Given the description of an element on the screen output the (x, y) to click on. 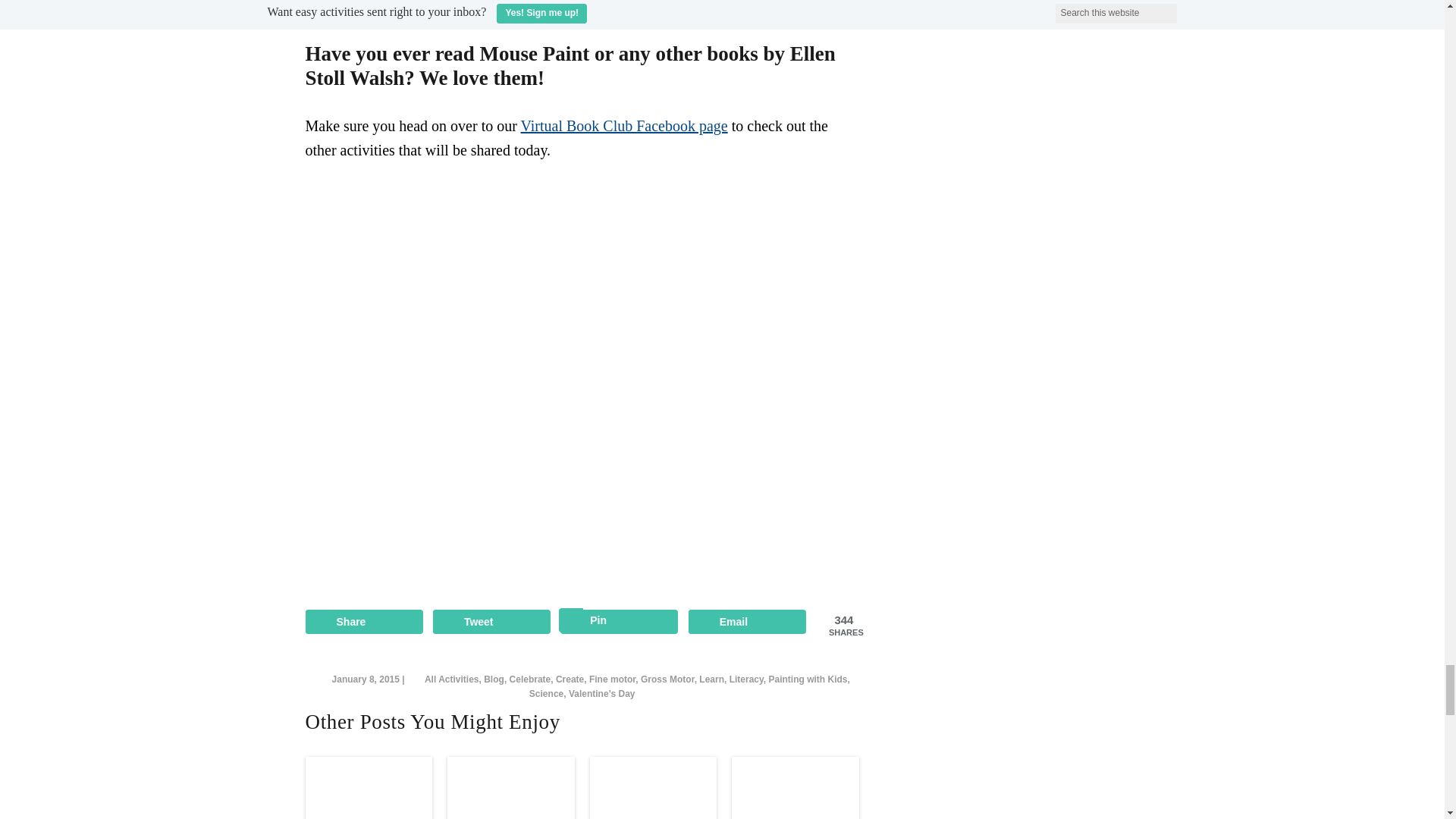
Share on Facebook (363, 621)
Save to Pinterest (619, 621)
Share on X (491, 621)
Send over email (747, 621)
